Given the description of an element on the screen output the (x, y) to click on. 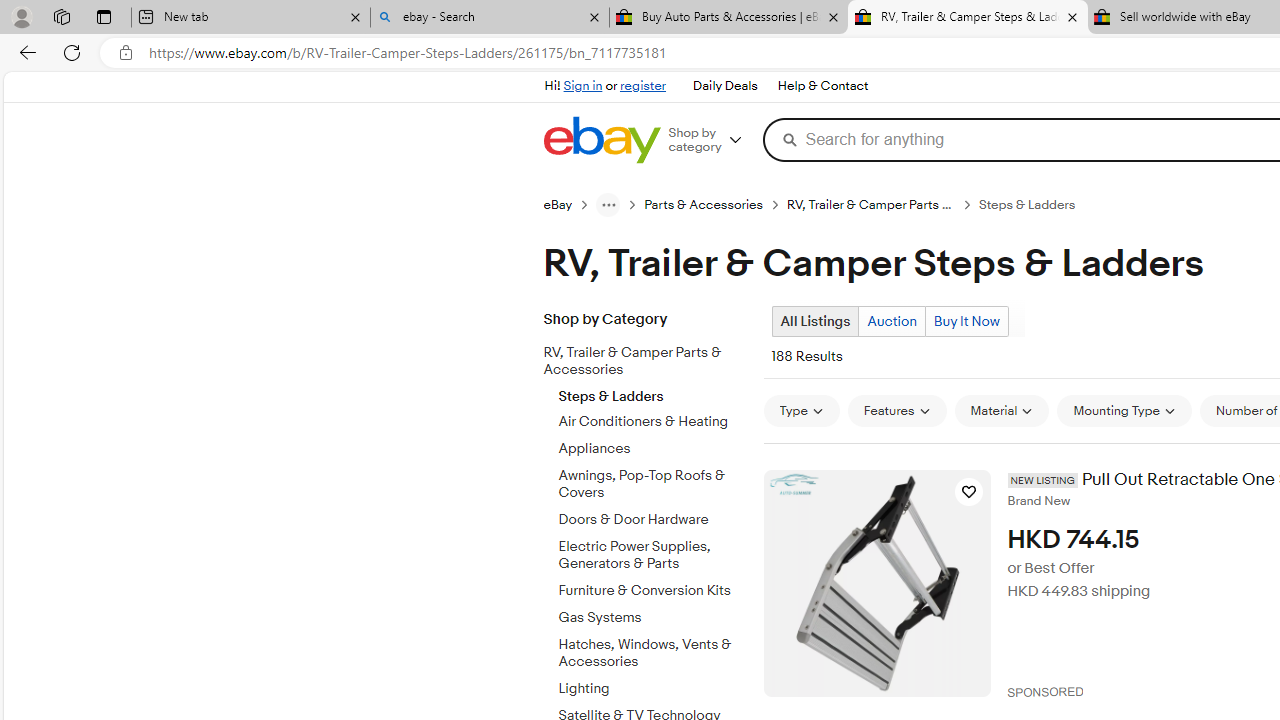
Doors & Door Hardware (653, 520)
New tab (250, 17)
Close tab (1072, 16)
Daily Deals (724, 86)
Awnings, Pop-Top Roofs & Covers (653, 481)
Air Conditioners & Heating (653, 422)
Help & Contact (822, 86)
Appliances (653, 449)
Buy It Now (966, 321)
eBay Home (601, 139)
Auction (891, 321)
Electric Power Supplies, Generators & Parts (653, 551)
Daily Deals (724, 85)
Help & Contact (821, 85)
